Given the description of an element on the screen output the (x, y) to click on. 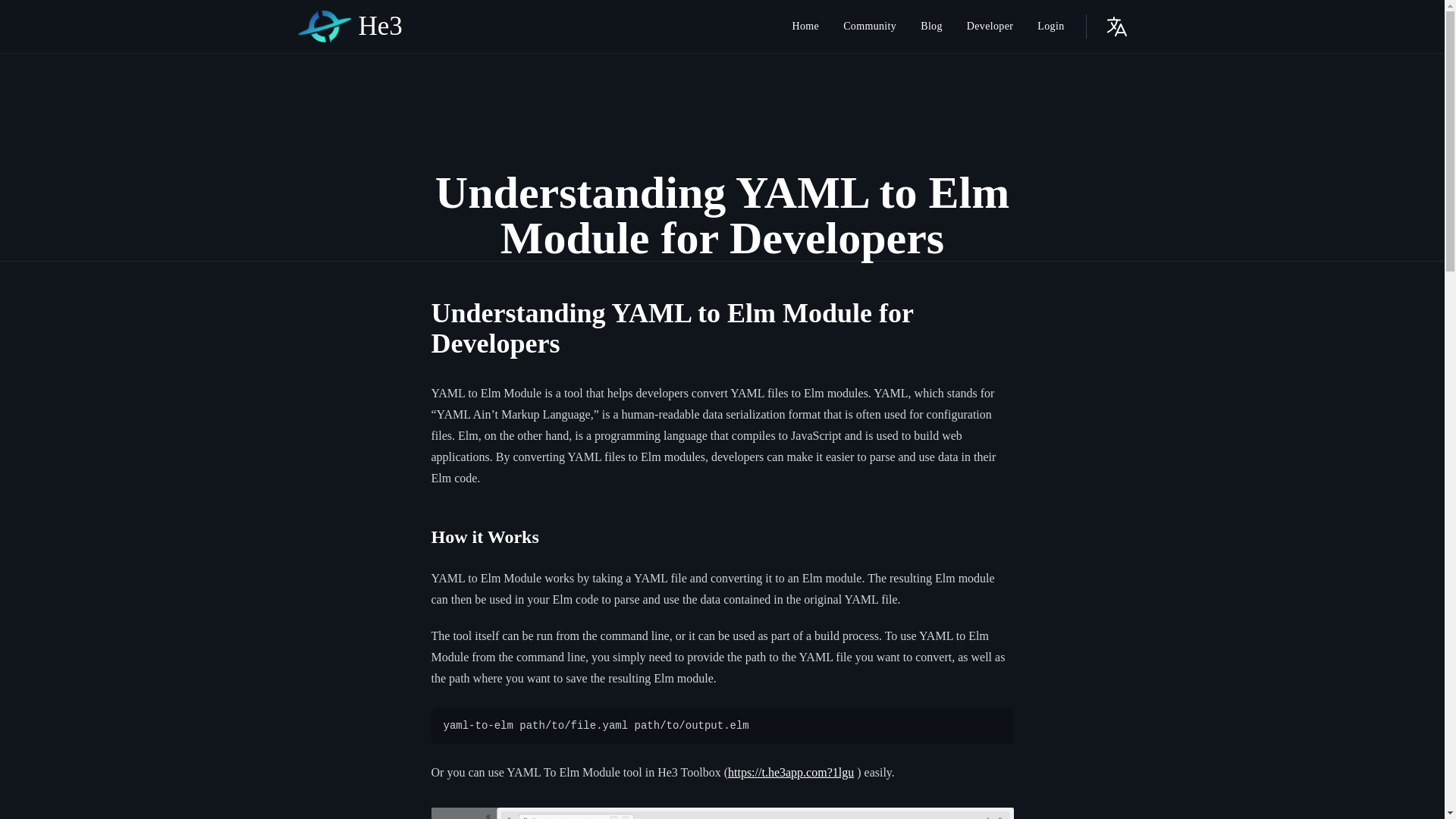
Blog (931, 26)
Community (869, 26)
Developer (990, 26)
He3 (349, 26)
Login (1050, 26)
Home (805, 26)
